Given the description of an element on the screen output the (x, y) to click on. 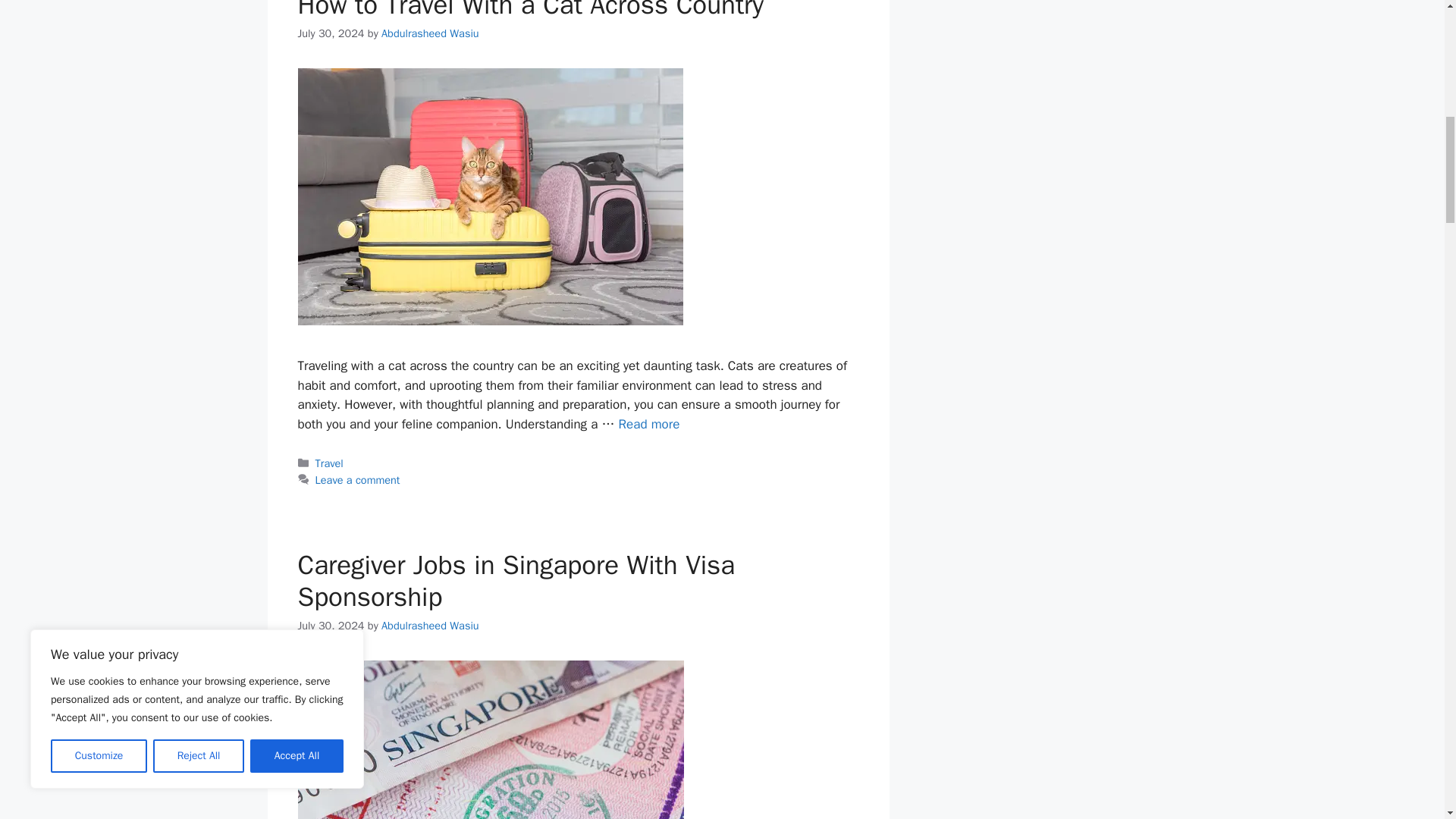
Read more (648, 424)
Abdulrasheed Wasiu (430, 625)
How to Travel With a Cat Across Country (648, 424)
Caregiver Jobs in Singapore With Visa Sponsorship (516, 580)
View all posts by Abdulrasheed Wasiu (430, 33)
Leave a comment (357, 479)
Travel (329, 463)
Abdulrasheed Wasiu (430, 33)
How to Travel With a Cat Across Country (529, 10)
View all posts by Abdulrasheed Wasiu (430, 625)
